Given the description of an element on the screen output the (x, y) to click on. 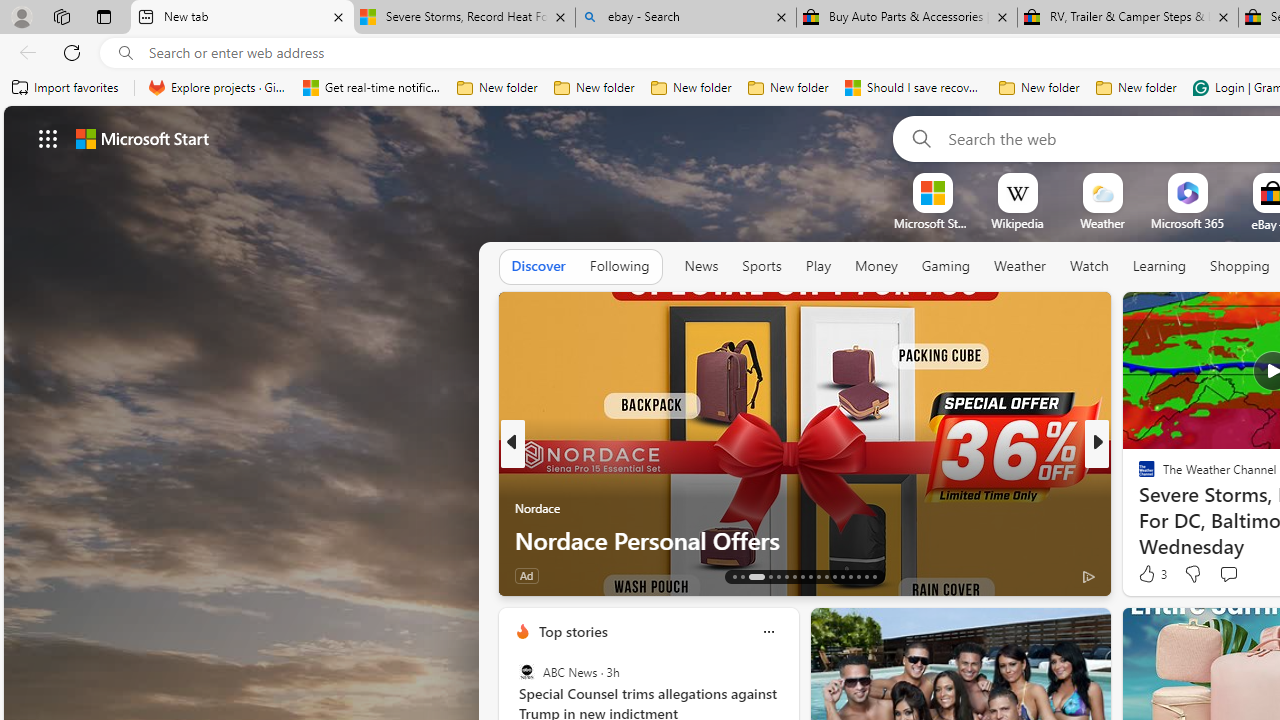
Search icon (125, 53)
More Options (1219, 179)
View comments 1 Comment (1241, 574)
AutomationID: tab-29 (874, 576)
AutomationID: tab-17 (778, 576)
AutomationID: tab-20 (801, 576)
